Given the description of an element on the screen output the (x, y) to click on. 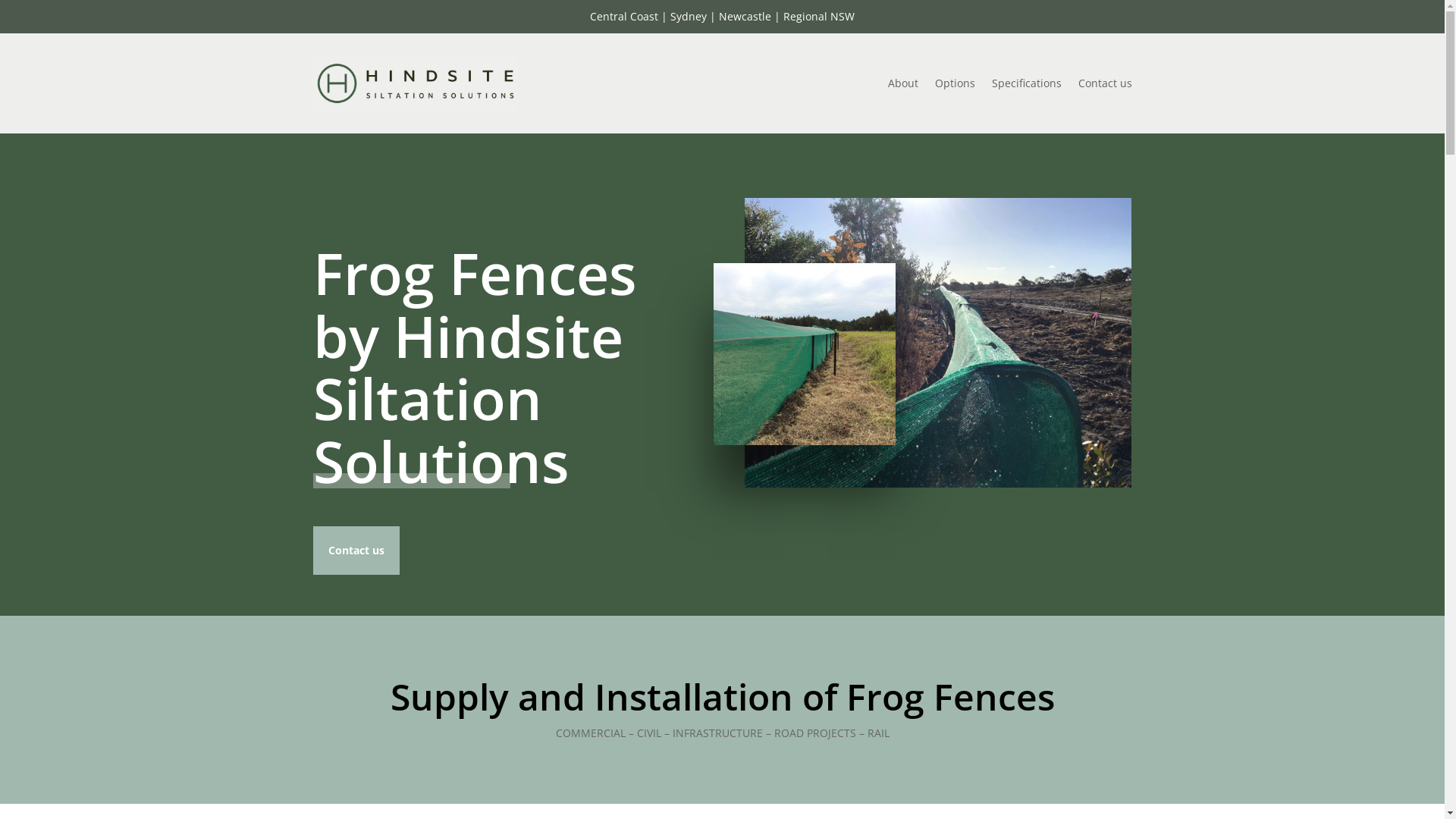
temporary-frog-fences-by-hindsite-central-coast Element type: hover (804, 354)
Options Element type: text (954, 82)
Contact us Element type: text (1105, 82)
Contact us Element type: text (355, 550)
Specifications Element type: text (1026, 82)
About Element type: text (902, 82)
